Given the description of an element on the screen output the (x, y) to click on. 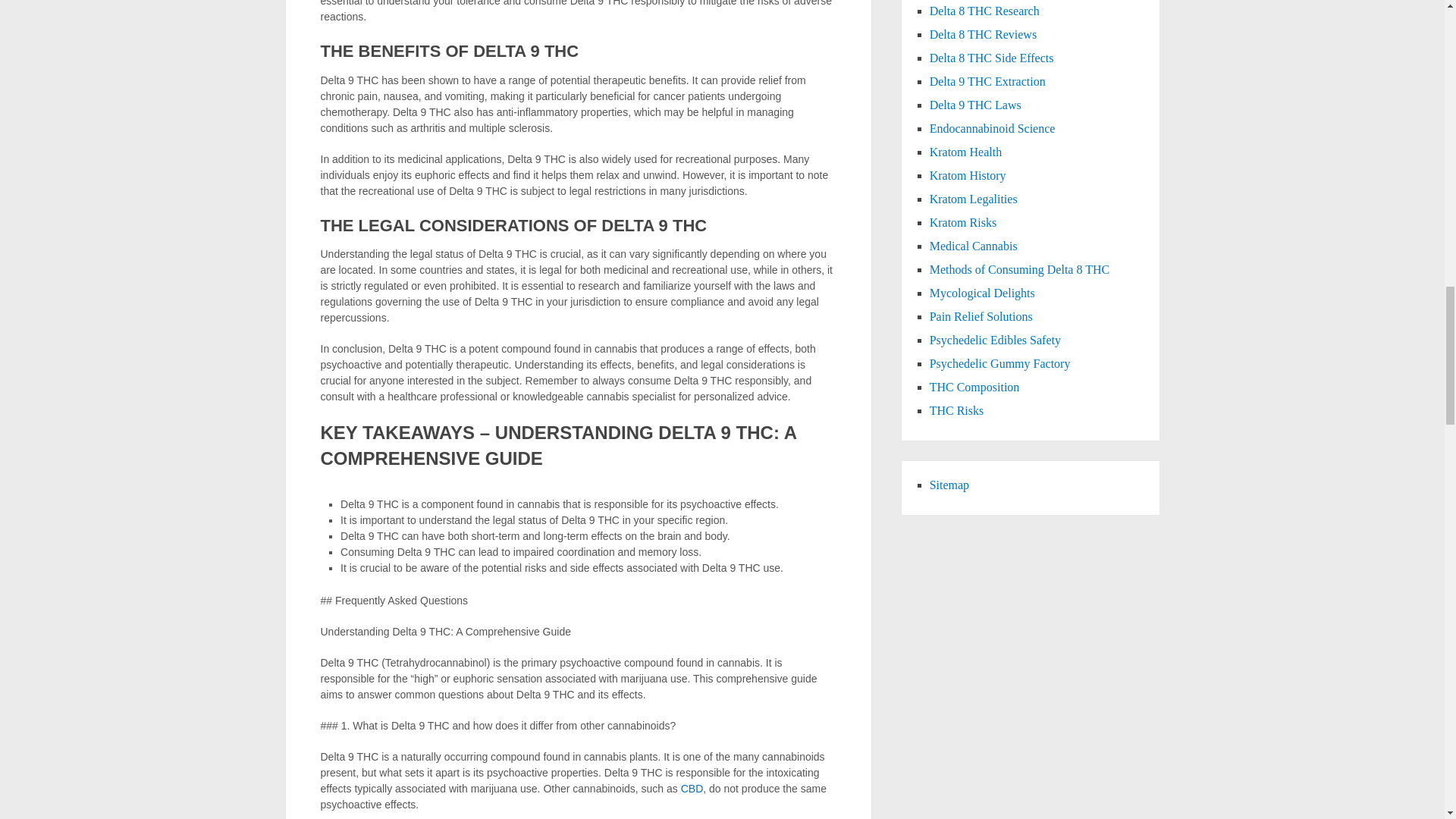
CBD (692, 788)
CBD (692, 788)
